Given the description of an element on the screen output the (x, y) to click on. 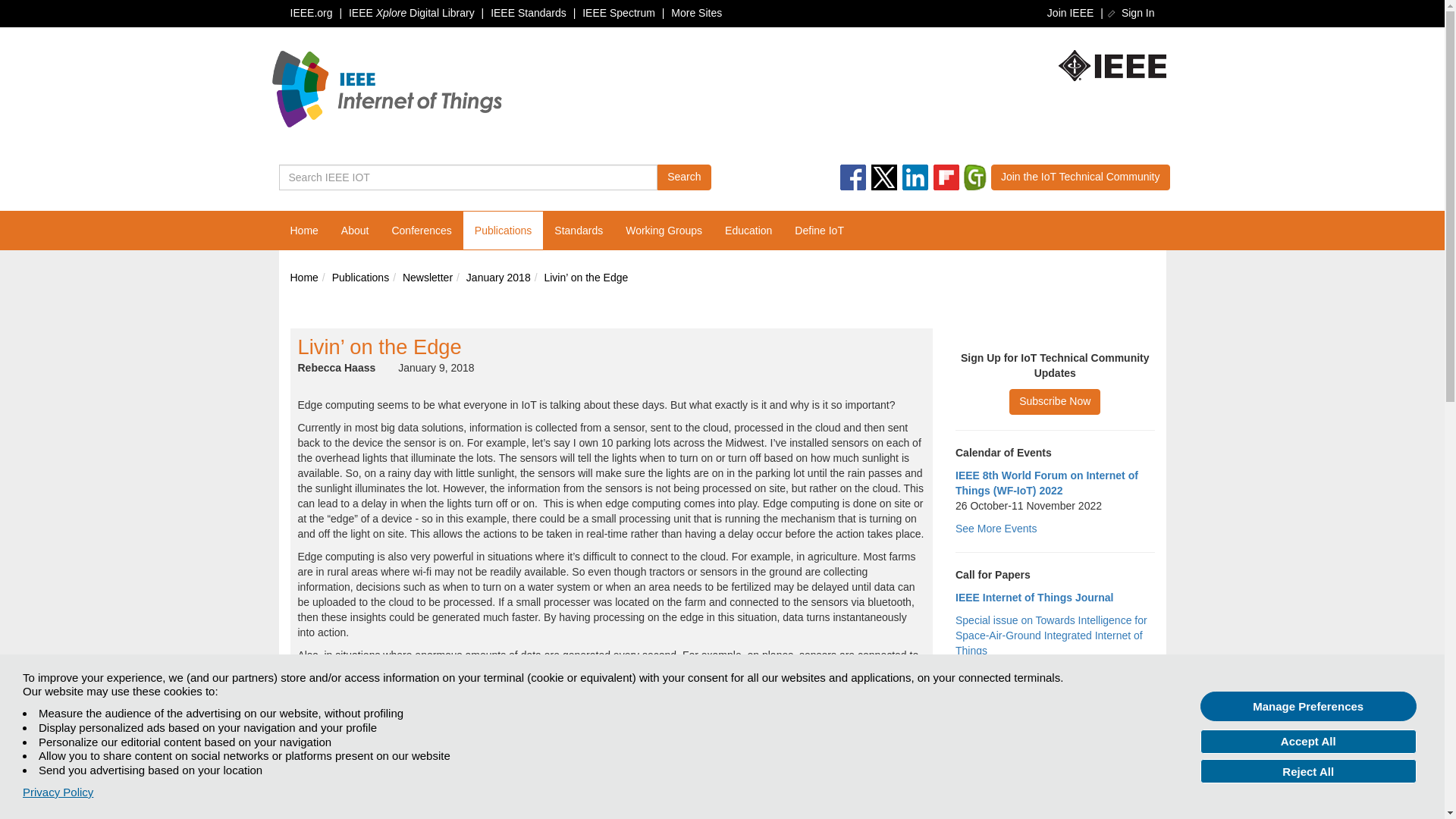
IEEE.org (1112, 65)
Sign In (1131, 12)
Standards (578, 230)
IEEE.org (310, 12)
Facebook (853, 177)
Join the IoT Technical Community (1080, 177)
More IEEE Sites (696, 12)
Privacy Policy (58, 792)
Search (684, 177)
IEEE Spectrum (618, 12)
